Given the description of an element on the screen output the (x, y) to click on. 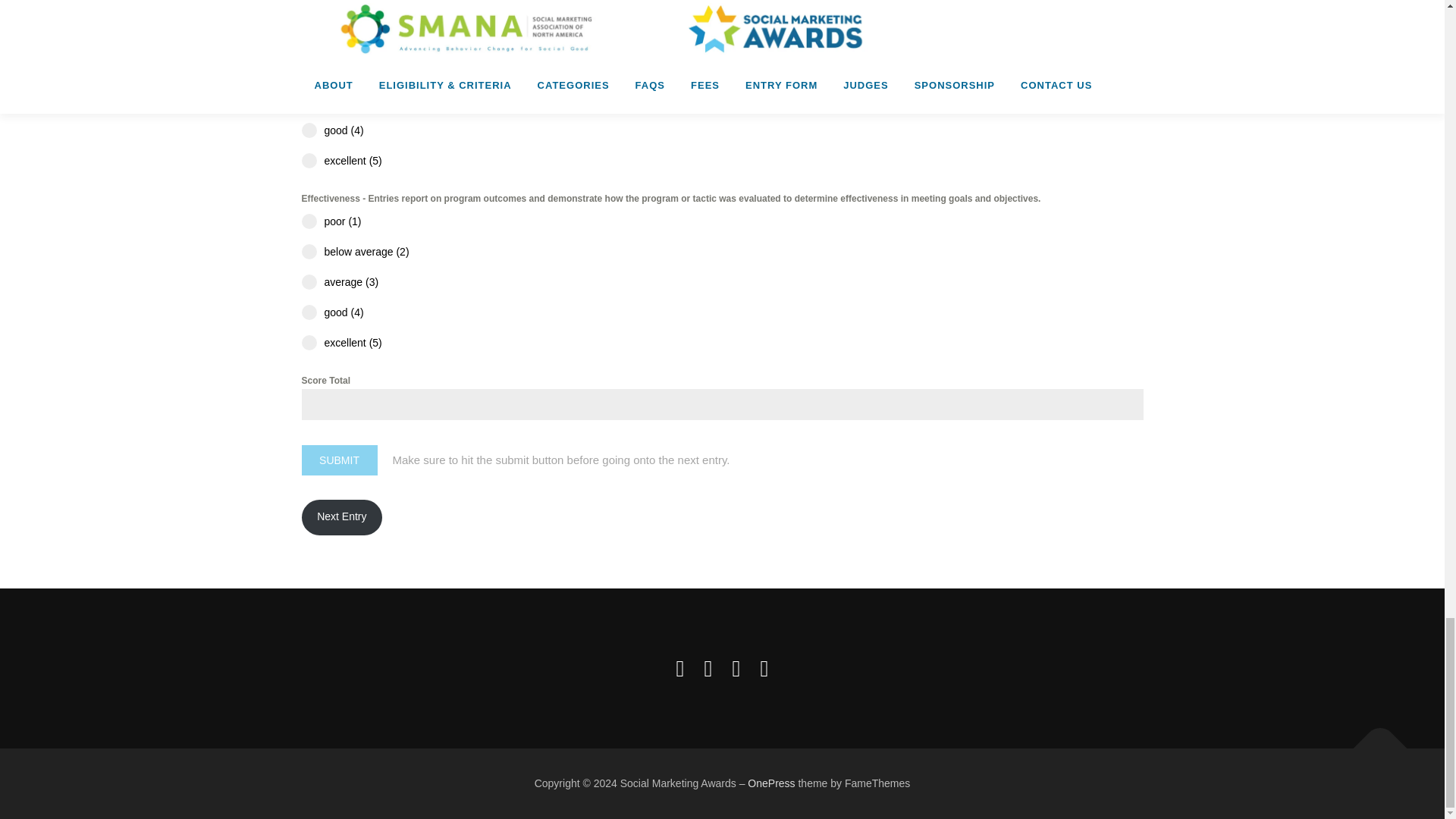
Next Entry (341, 516)
OnePress (771, 783)
SUBMIT (339, 460)
